Given the description of an element on the screen output the (x, y) to click on. 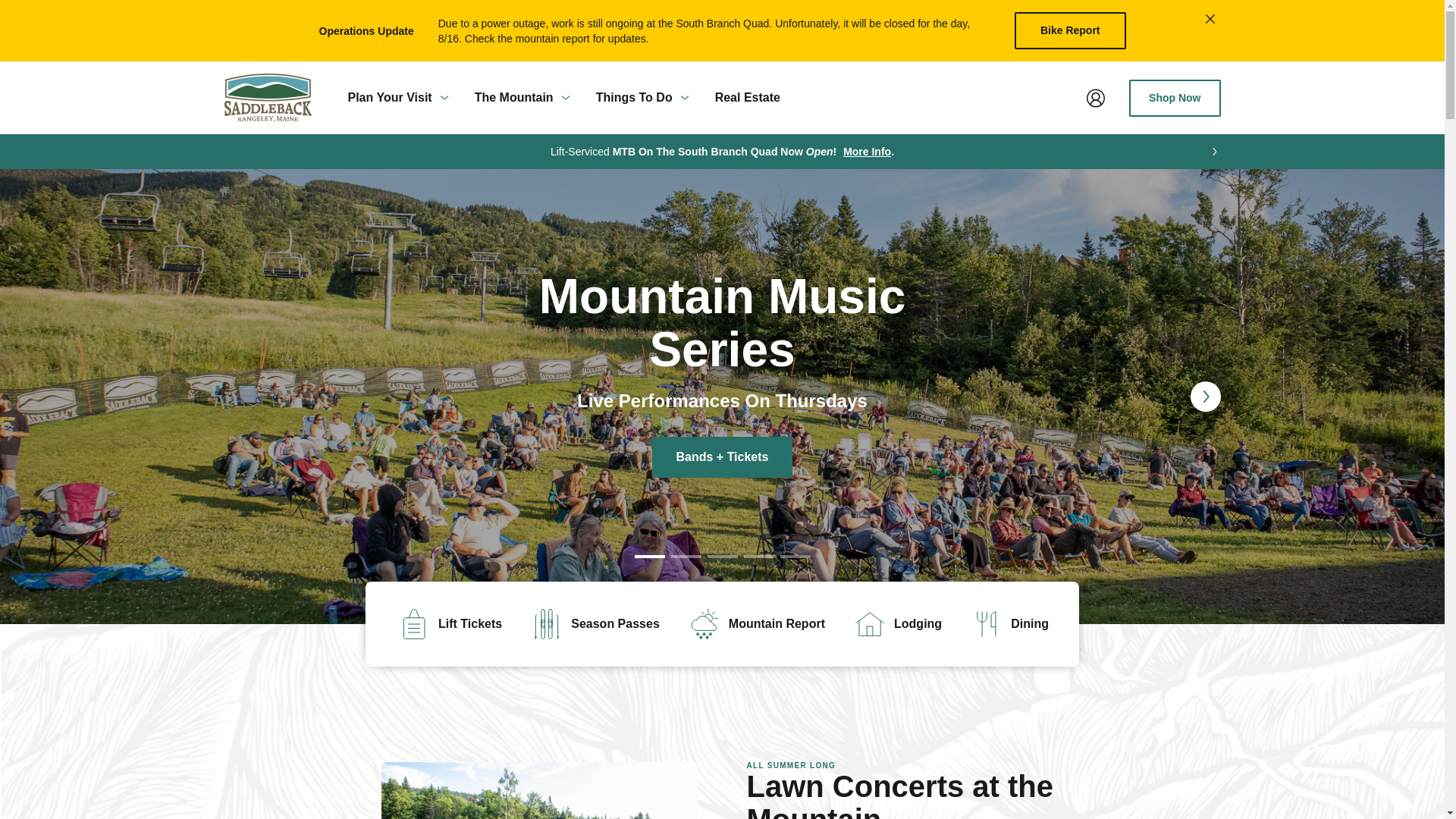
The Mountain (523, 97)
Bike Report (1069, 30)
Plan Your Visit (397, 97)
